Given the description of an element on the screen output the (x, y) to click on. 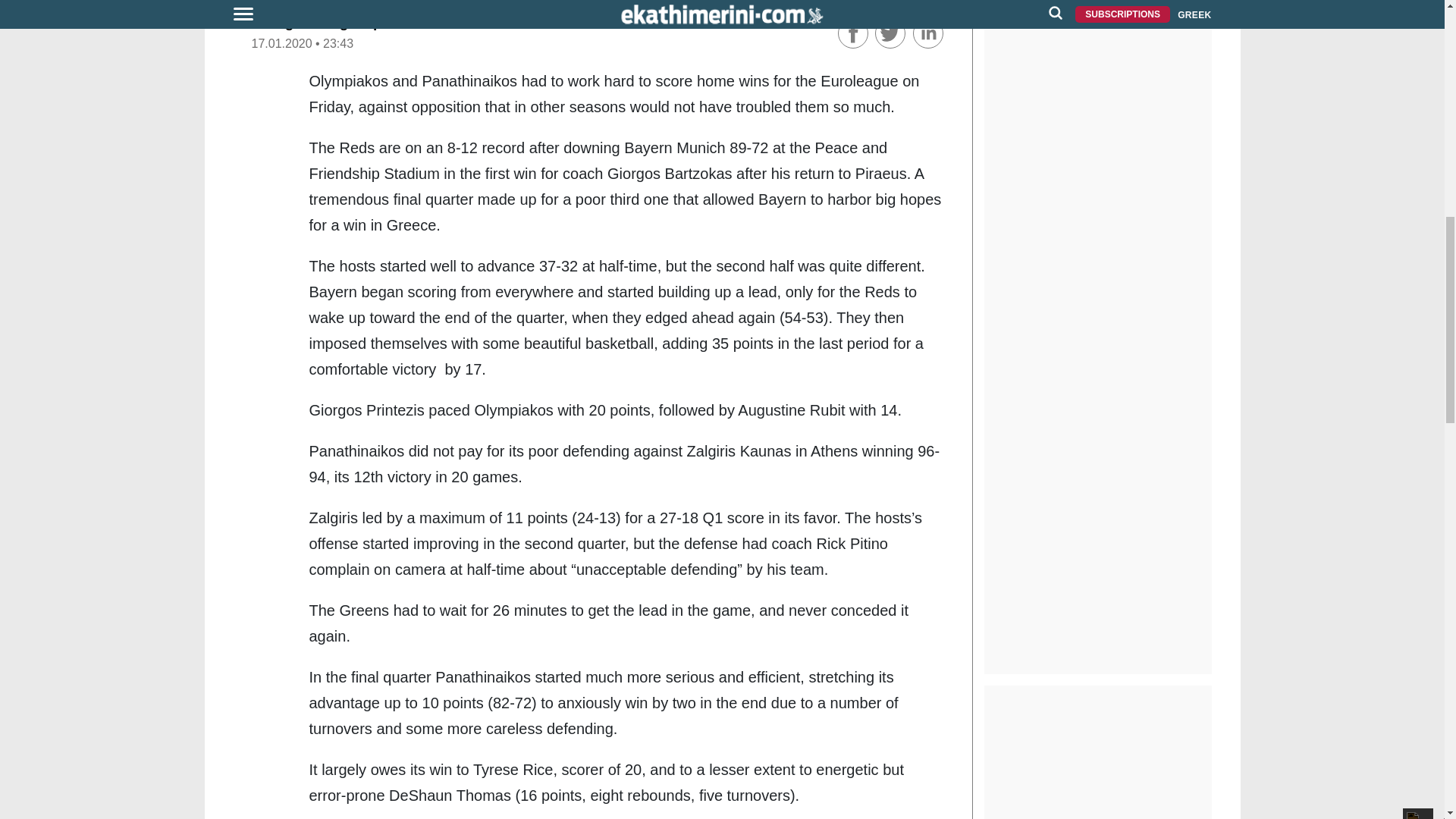
View all posts by George Georgakopoulos (335, 22)
